Given the description of an element on the screen output the (x, y) to click on. 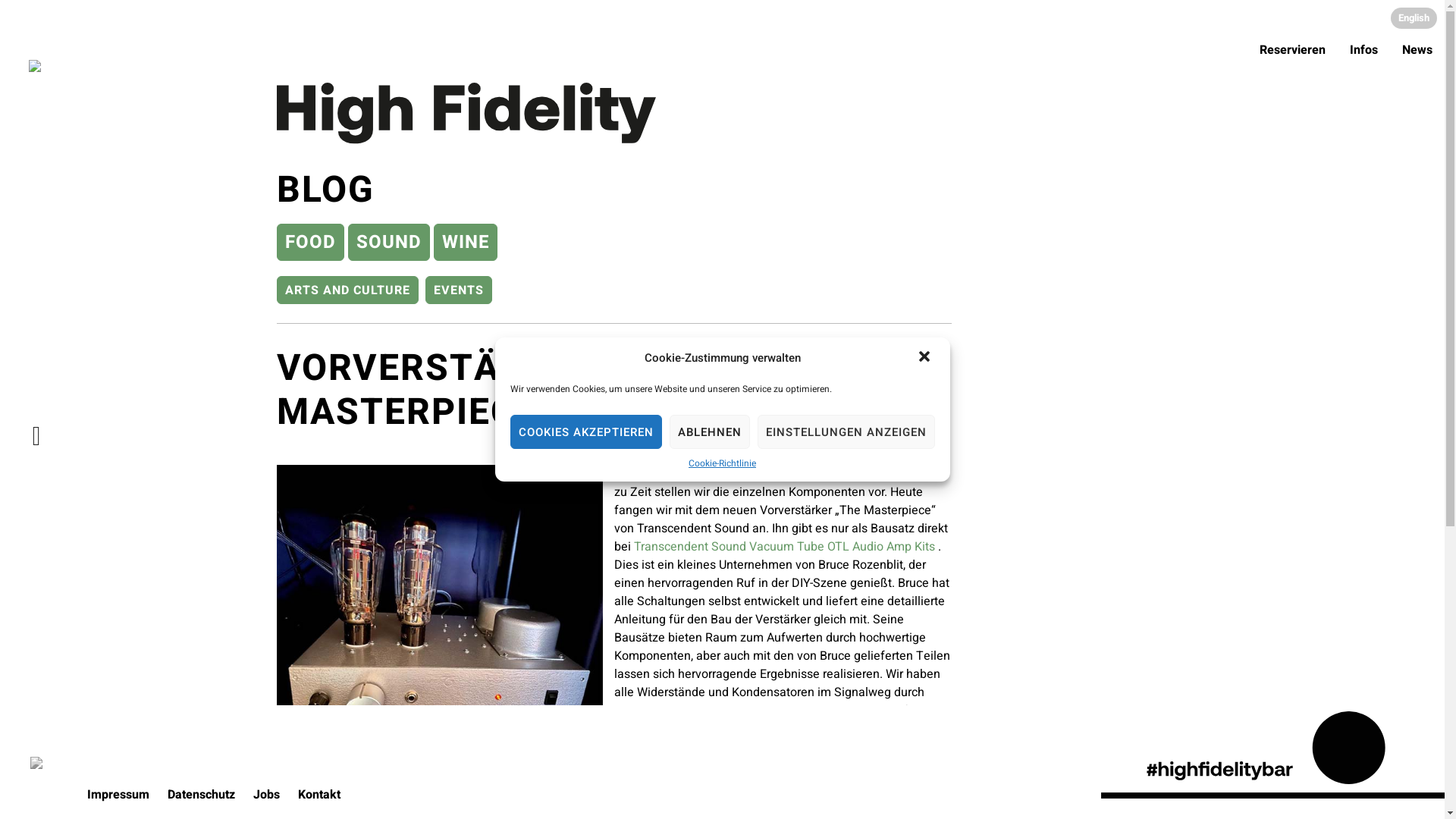
Impressum Element type: text (118, 794)
ARTS AND CULTURE Element type: text (347, 290)
Kontakt Element type: text (319, 794)
ARTS AND CULTURE Element type: text (347, 290)
ABLEHNEN Element type: text (708, 431)
Reservieren Element type: text (1292, 49)
SOUND Element type: text (388, 242)
Cookie-Richtlinie Element type: text (722, 463)
News Element type: text (1417, 49)
Transcendent Sound Vacuum Tube OTL Audio Amp Kits Element type: text (784, 546)
BLOG Element type: text (613, 186)
Infos Element type: text (1363, 49)
FOOD Element type: text (310, 241)
Datenschutz Element type: text (201, 794)
COOKIES AKZEPTIEREN Element type: text (585, 431)
English Element type: text (1413, 17)
Jobs Element type: text (266, 794)
SOUND Element type: text (388, 241)
FOOD Element type: text (310, 242)
EVENTS Element type: text (458, 290)
EINSTELLUNGEN ANZEIGEN Element type: text (845, 431)
WINE Element type: text (465, 242)
WINE Element type: text (465, 241)
EVENTS Element type: text (458, 290)
